Given the description of an element on the screen output the (x, y) to click on. 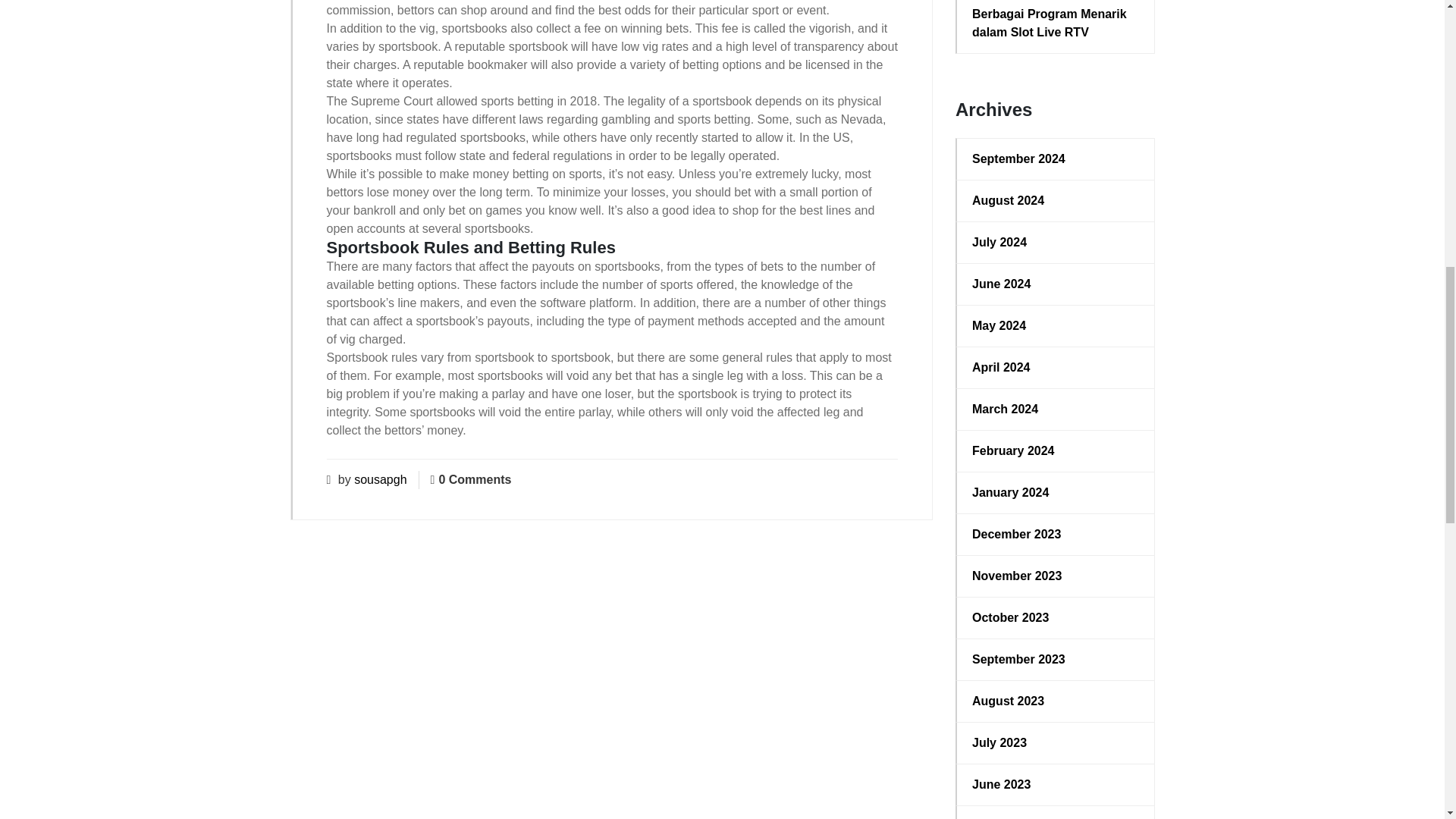
May 2024 (1055, 325)
Berbagai Program Menarik dalam Slot Live RTV (1055, 22)
September 2024 (1055, 158)
September 2023 (1055, 659)
August 2023 (1055, 701)
July 2024 (1055, 242)
June 2023 (1055, 784)
November 2023 (1055, 576)
October 2023 (1055, 618)
February 2024 (1055, 451)
